Given the description of an element on the screen output the (x, y) to click on. 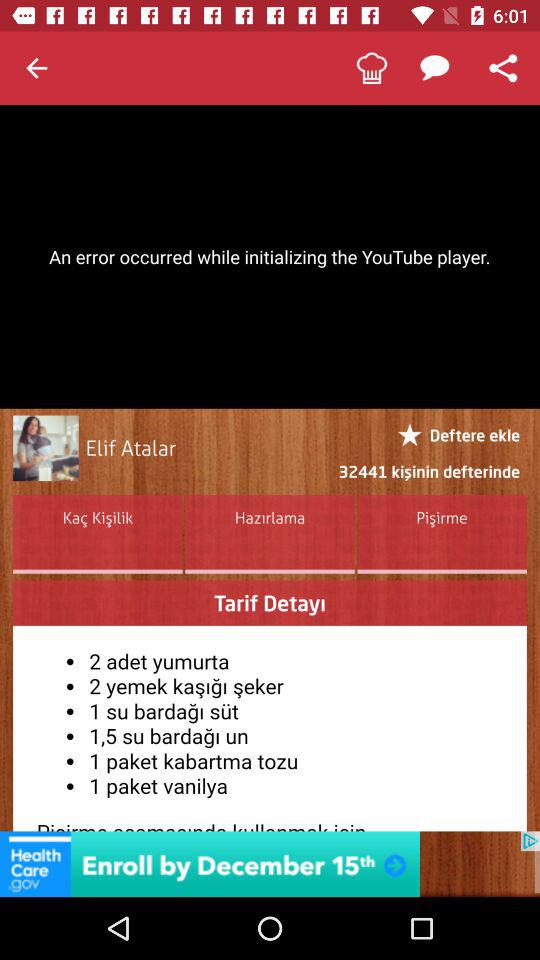
photo (45, 448)
